Given the description of an element on the screen output the (x, y) to click on. 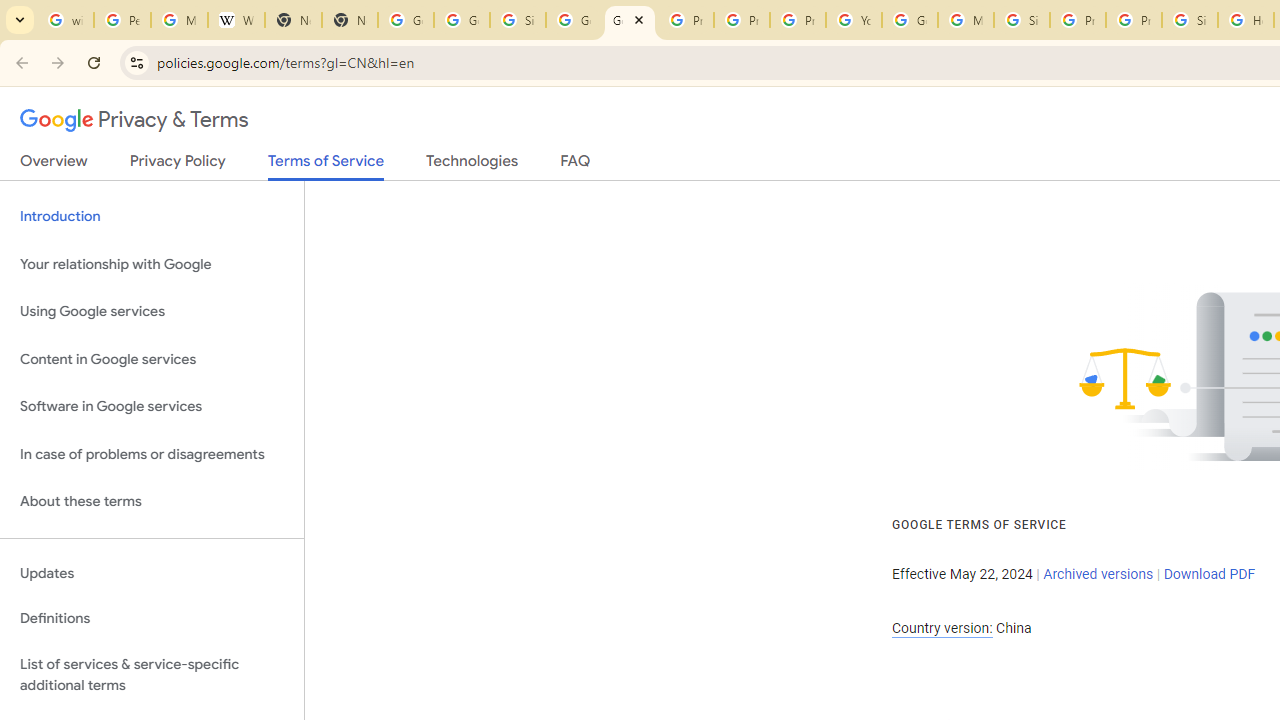
Wikipedia:Edit requests - Wikipedia (235, 20)
In case of problems or disagreements (152, 453)
Using Google services (152, 312)
Definitions (152, 619)
Archived versions (1098, 574)
List of services & service-specific additional terms (152, 674)
